Given the description of an element on the screen output the (x, y) to click on. 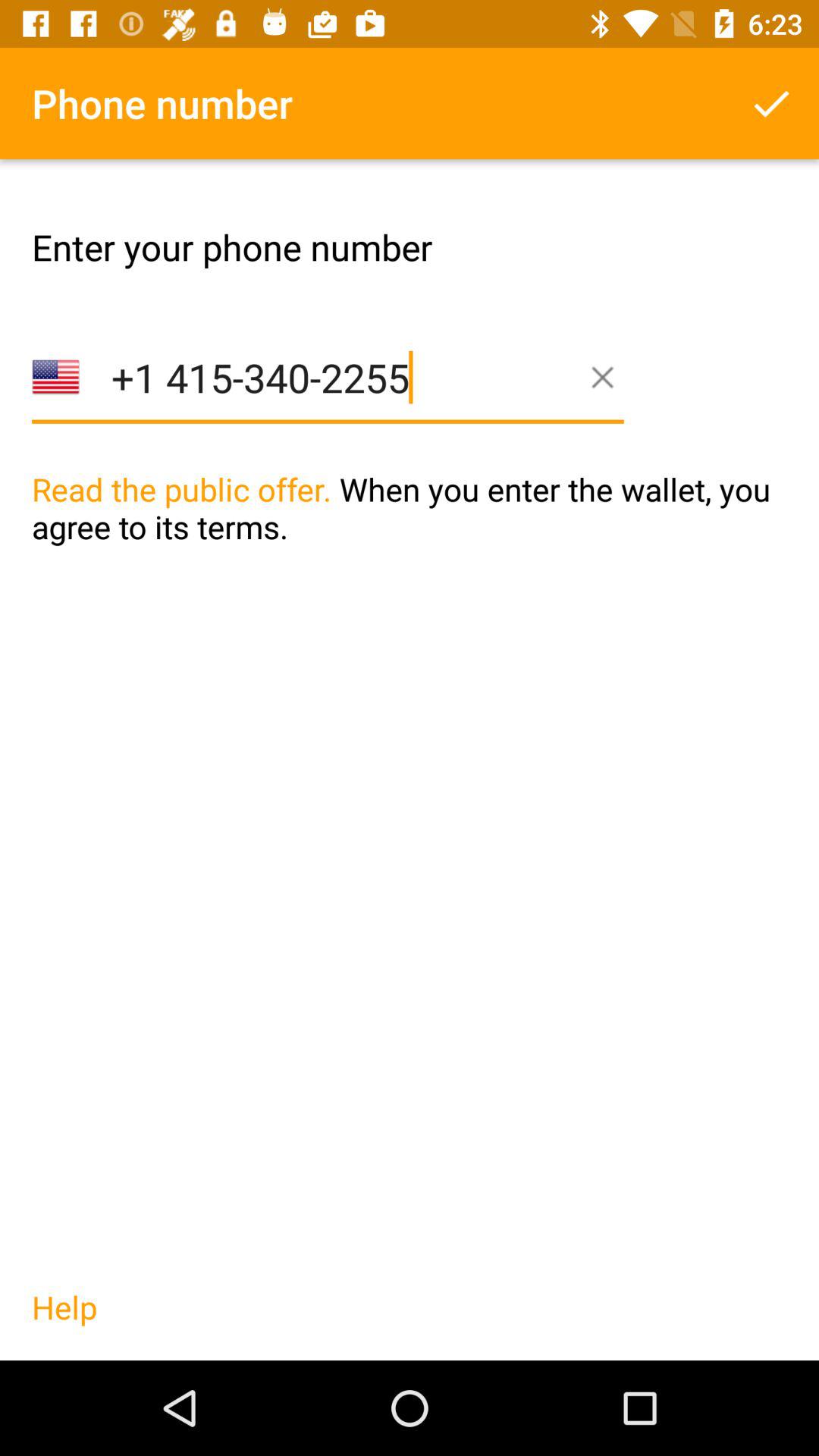
launch the help (64, 1322)
